Given the description of an element on the screen output the (x, y) to click on. 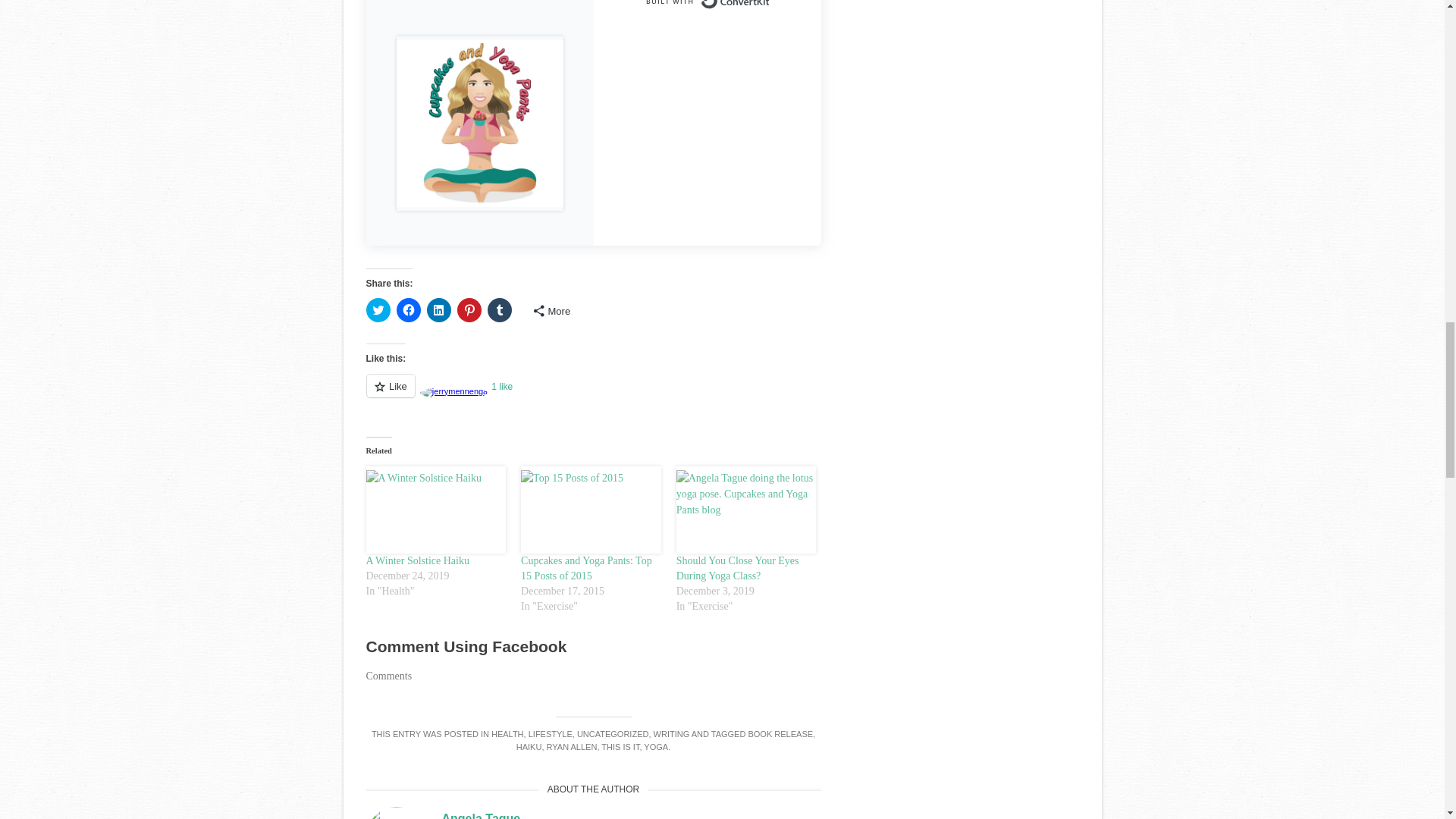
Like or Reblog (593, 394)
A Winter Solstice Haiku (416, 560)
Cupcakes and Yoga Pants: Top 15 Posts of 2015 (586, 568)
Click to share on Tumblr (498, 310)
Click to share on Pinterest (468, 310)
Built with ConvertKit (707, 7)
Click to share on LinkedIn (437, 310)
Should You Close Your Eyes During Yoga Class? (738, 568)
More (551, 310)
A Winter Solstice Haiku (435, 509)
Click to share on Twitter (377, 310)
Click to share on Facebook (408, 310)
HEALTH (508, 733)
